Given the description of an element on the screen output the (x, y) to click on. 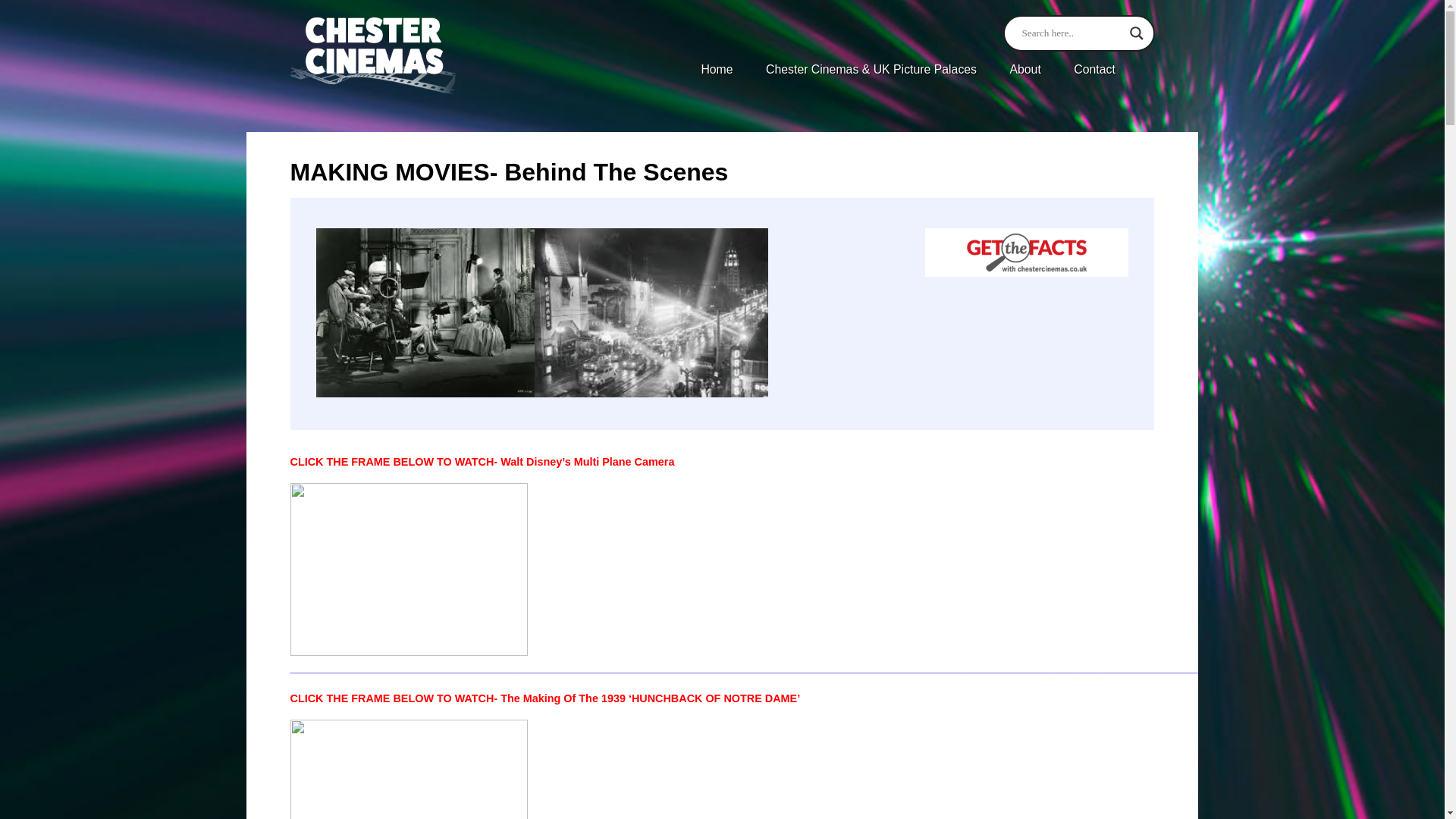
Home (716, 69)
About (1025, 69)
Contact (1094, 69)
